Given the description of an element on the screen output the (x, y) to click on. 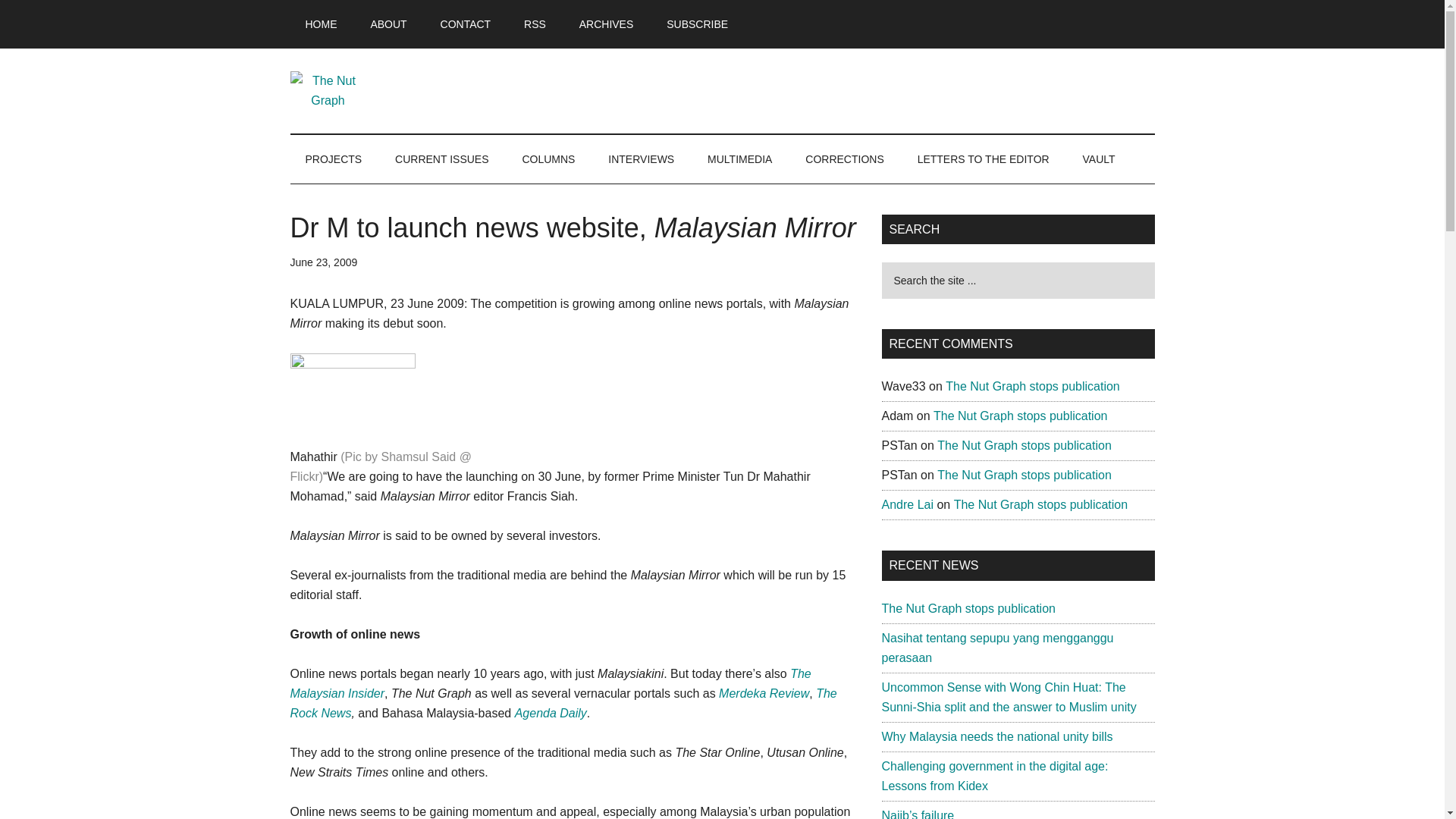
The Rock News (562, 703)
ABOUT (388, 24)
Agenda Daily (550, 712)
LETTERS TO THE EDITOR (983, 159)
MULTIMEDIA (740, 159)
CURRENT ISSUES (441, 159)
ARCHIVES (606, 24)
INTERVIEWS (640, 159)
